Given the description of an element on the screen output the (x, y) to click on. 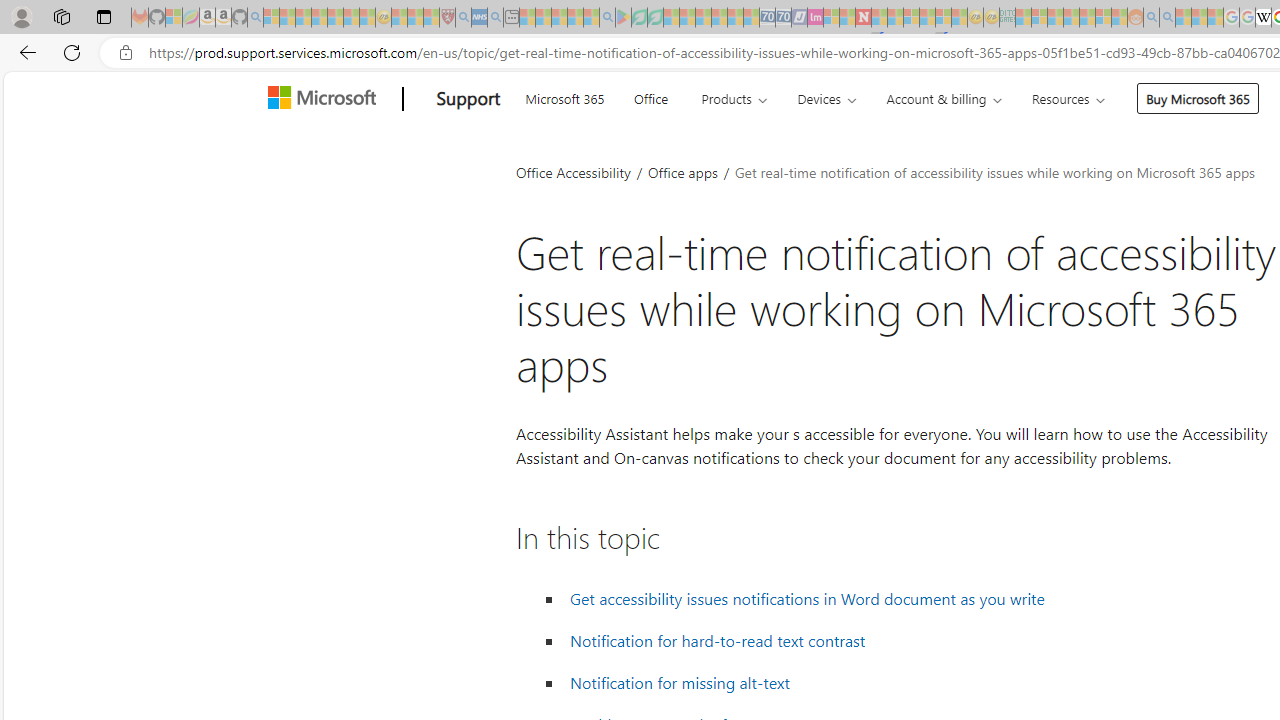
Office (650, 96)
Support (468, 99)
